Given the description of an element on the screen output the (x, y) to click on. 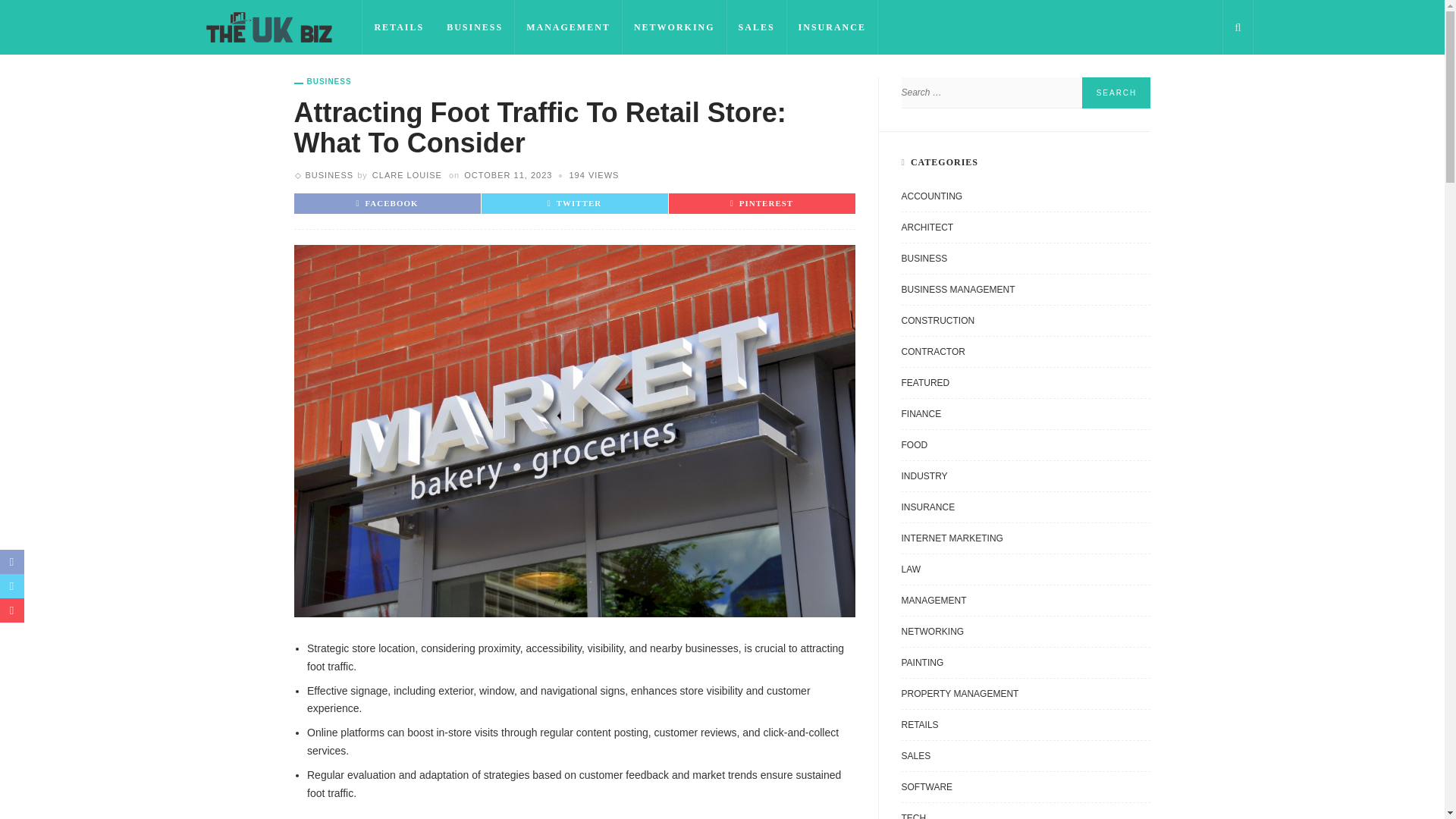
Attracting Foot Traffic to Retail Store: What to Consider (593, 174)
Search (1115, 92)
The UK Biz (268, 26)
Business (328, 174)
Search (1115, 92)
Business (323, 81)
